Given the description of an element on the screen output the (x, y) to click on. 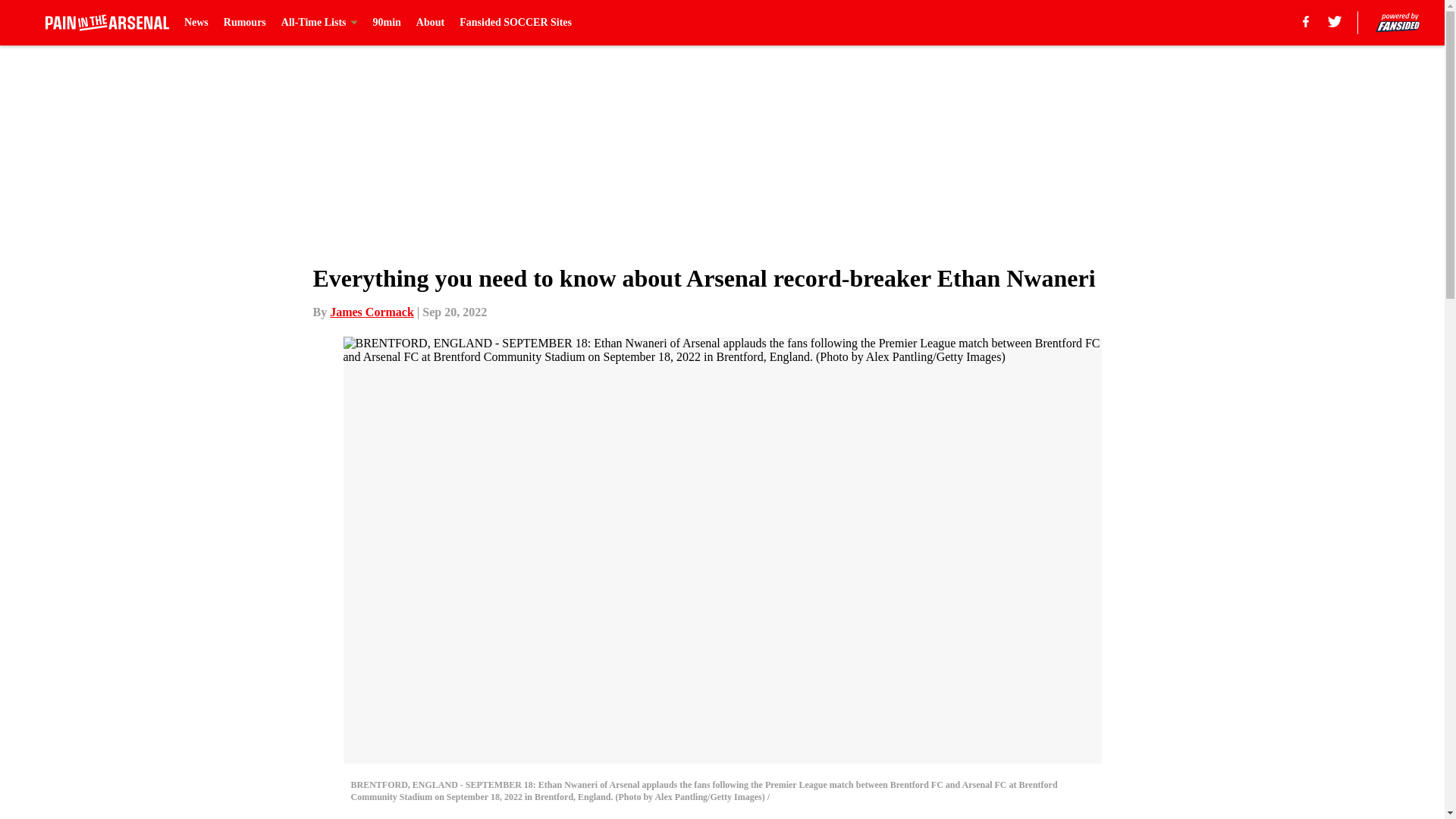
News (196, 22)
Fansided SOCCER Sites (516, 22)
Rumours (245, 22)
About (430, 22)
James Cormack (371, 311)
90min (386, 22)
